Given the description of an element on the screen output the (x, y) to click on. 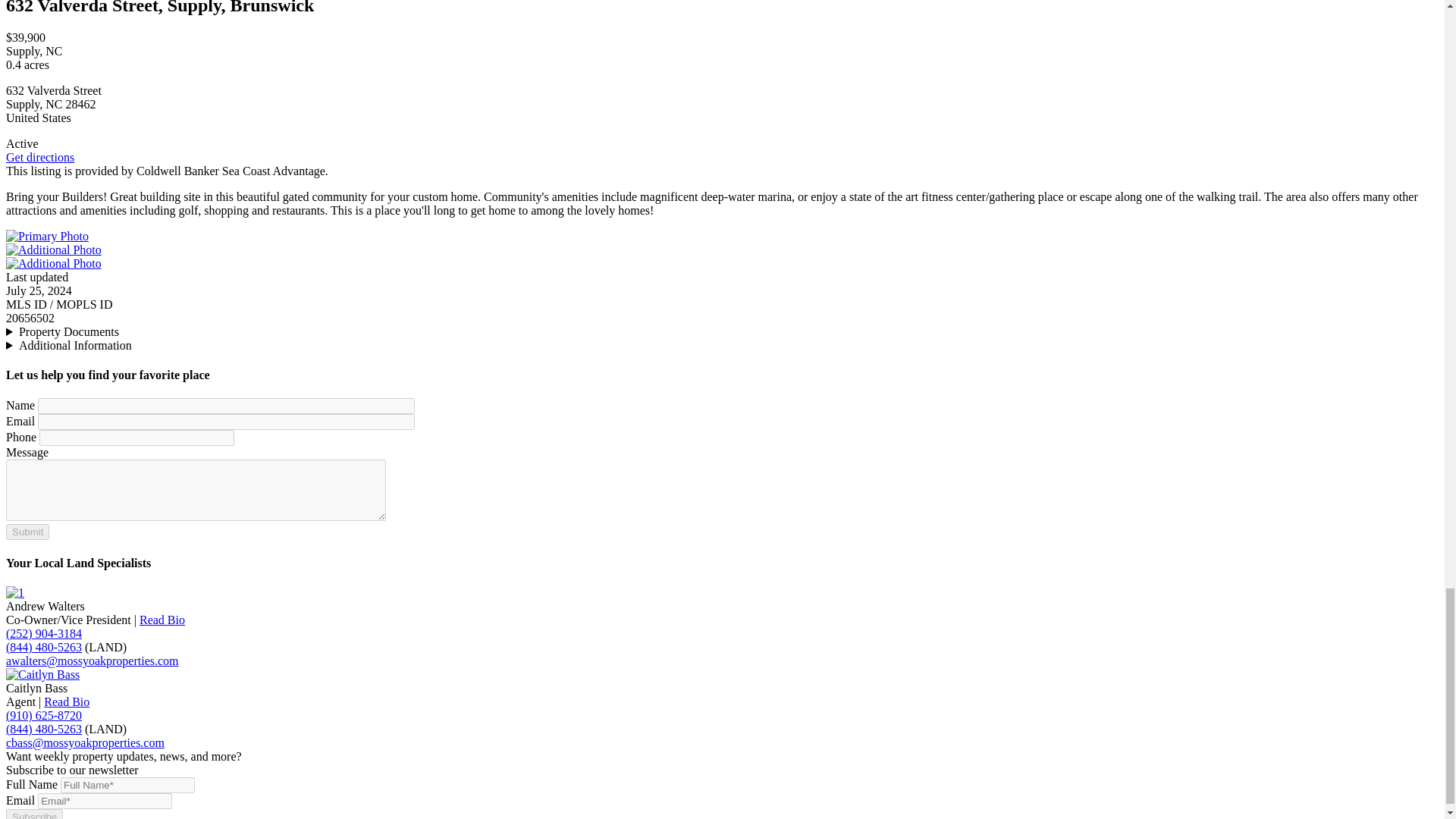
Primary Photo (46, 236)
Submit (27, 531)
Additional Photo (53, 249)
Additional Photo (53, 263)
